Given the description of an element on the screen output the (x, y) to click on. 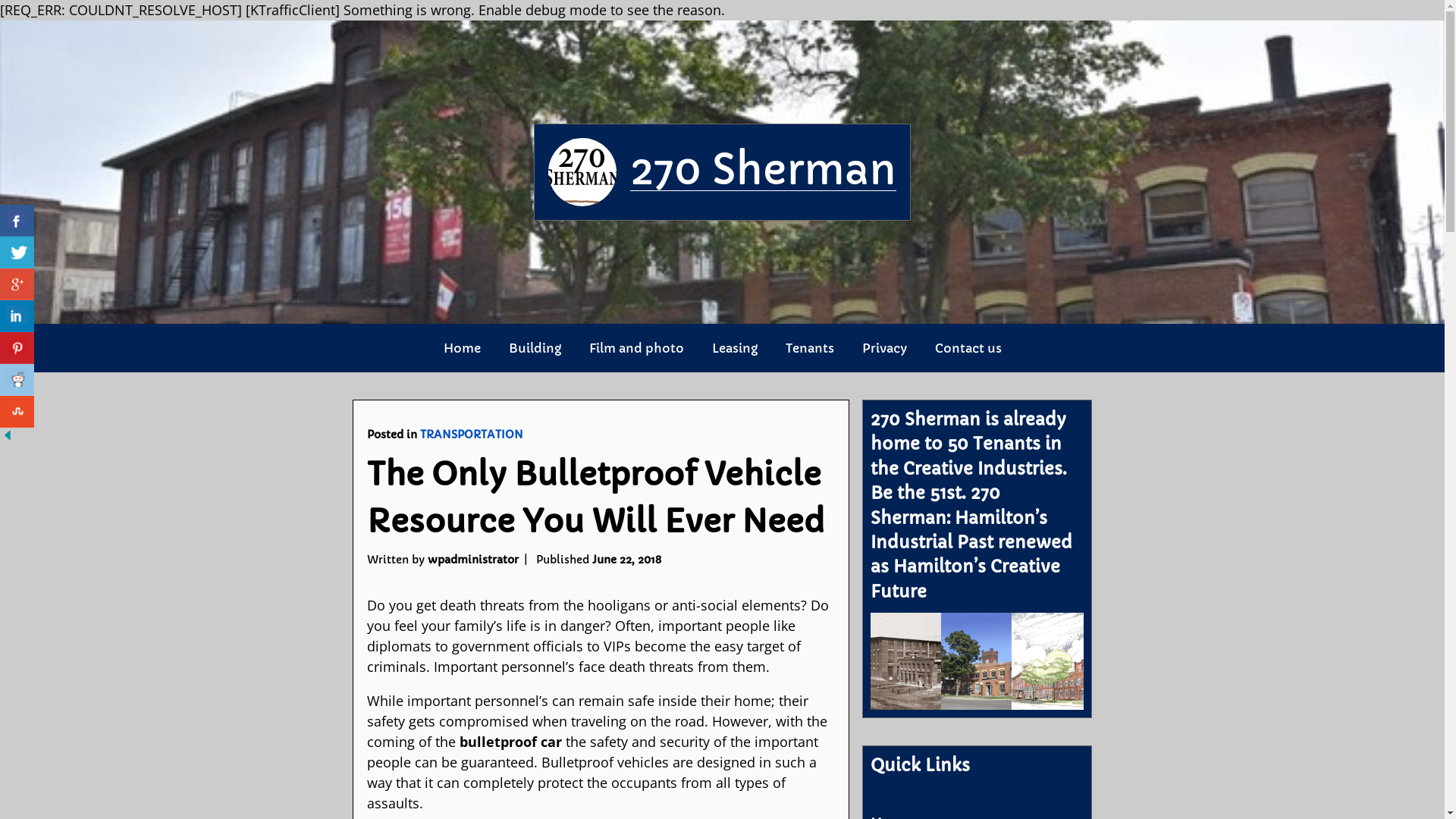
Share On Pinterest Element type: hover (17, 348)
Hide Buttons Element type: hover (7, 437)
Search Element type: text (39, 15)
The Only Bulletproof Vehicle Resource You Will Ever Need Element type: text (595, 497)
Privacy Element type: text (883, 347)
June 22, 2018 Element type: text (626, 559)
Share This With Your Friends Element type: hover (18, 323)
270 Sherman Element type: text (763, 169)
Home Element type: text (461, 347)
Share On Twitter Element type: hover (17, 252)
TRANSPORTATION Element type: text (471, 434)
Contact us Element type: text (967, 347)
wpadministrator Element type: text (472, 559)
Tenants Element type: text (809, 347)
Film and photo Element type: text (635, 347)
Share On Linkedin Element type: hover (17, 316)
Leasing Element type: text (733, 347)
Share On Google Plus Element type: hover (17, 284)
Share On Stumbleupon Element type: hover (17, 411)
Building Element type: text (533, 347)
Share On Reddit Element type: hover (17, 379)
Share On Facebook Element type: hover (17, 220)
